Given the description of an element on the screen output the (x, y) to click on. 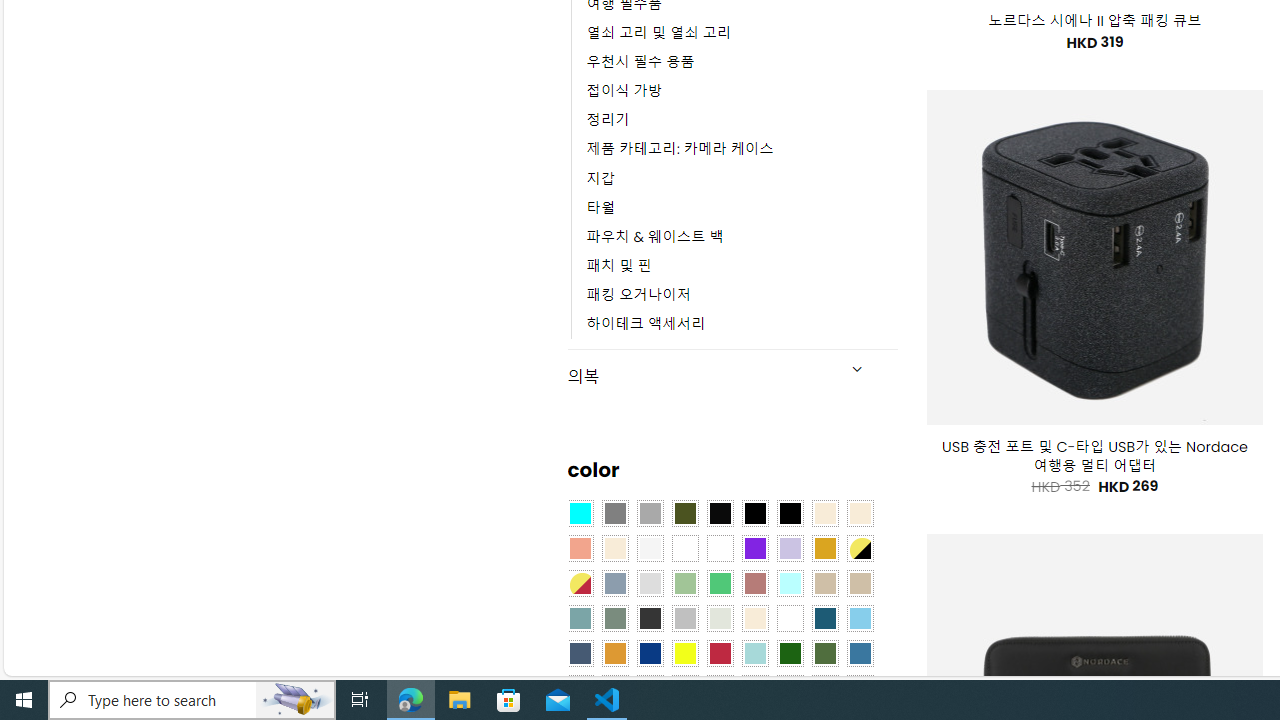
Cream (614, 548)
Kelp (719, 548)
